Given the description of an element on the screen output the (x, y) to click on. 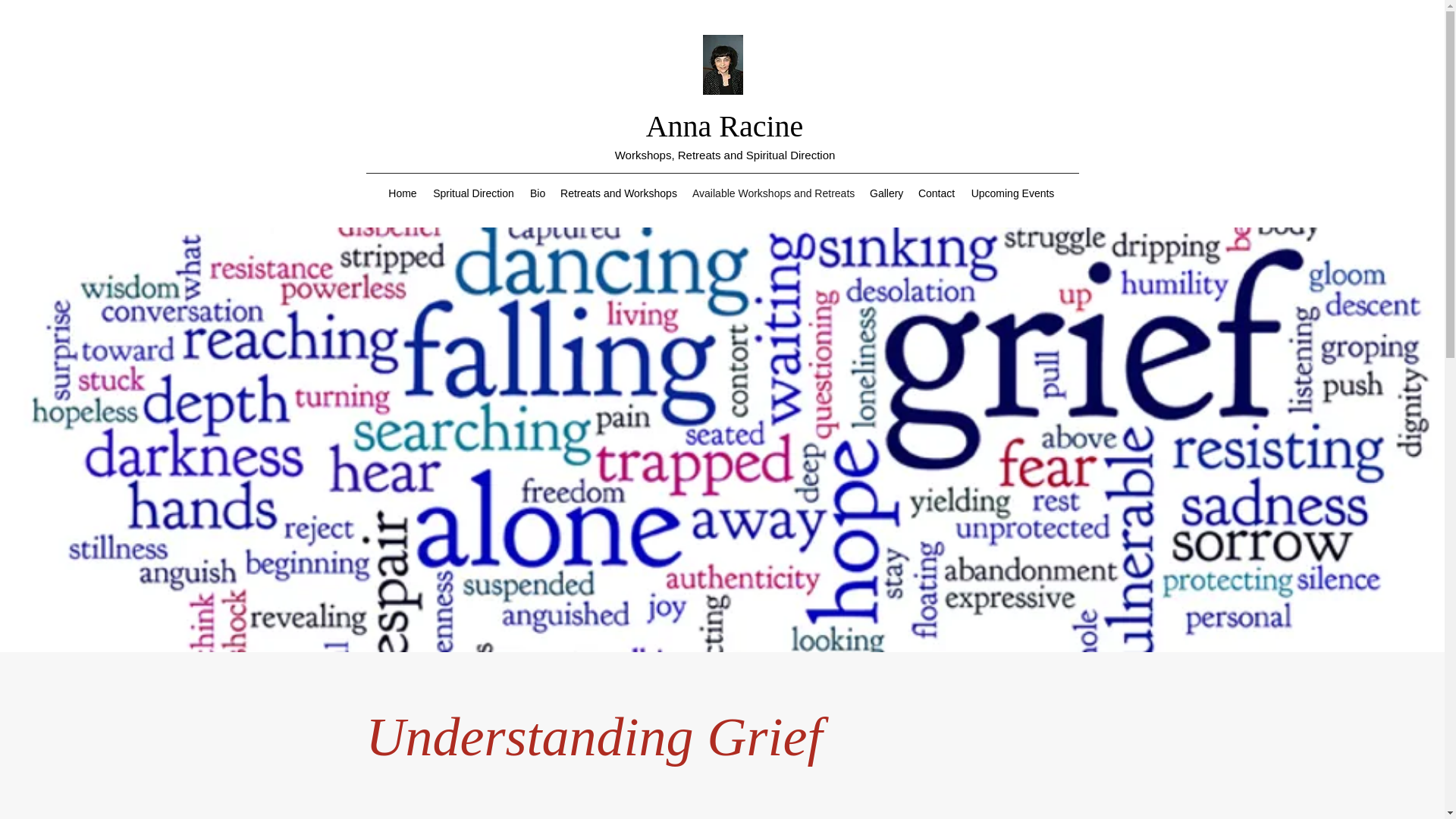
Anna Racine (724, 125)
Retreats and Workshops (618, 192)
Available Workshops and Retreats (772, 192)
Home (402, 192)
Spritual Direction (473, 192)
Bio (537, 192)
